Given the description of an element on the screen output the (x, y) to click on. 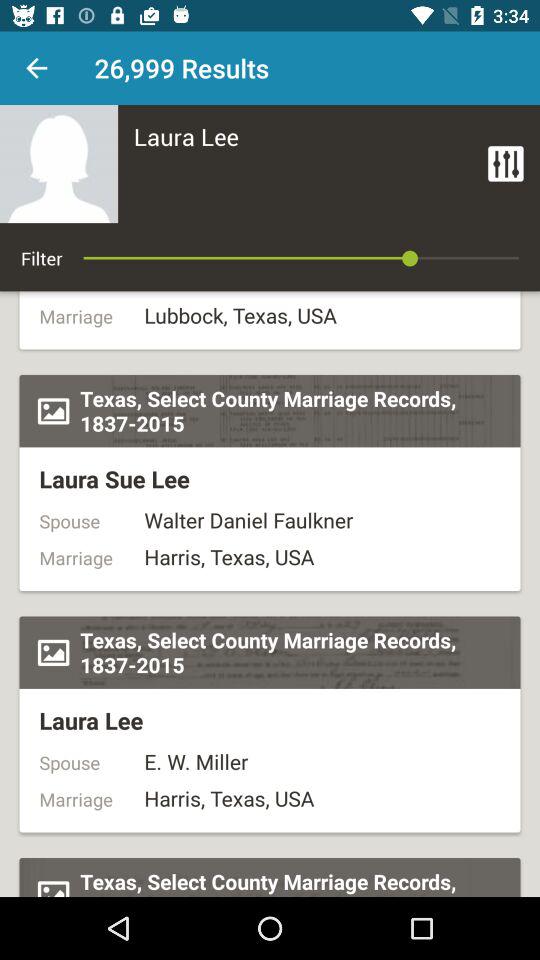
turn off item at the top right corner (505, 163)
